Given the description of an element on the screen output the (x, y) to click on. 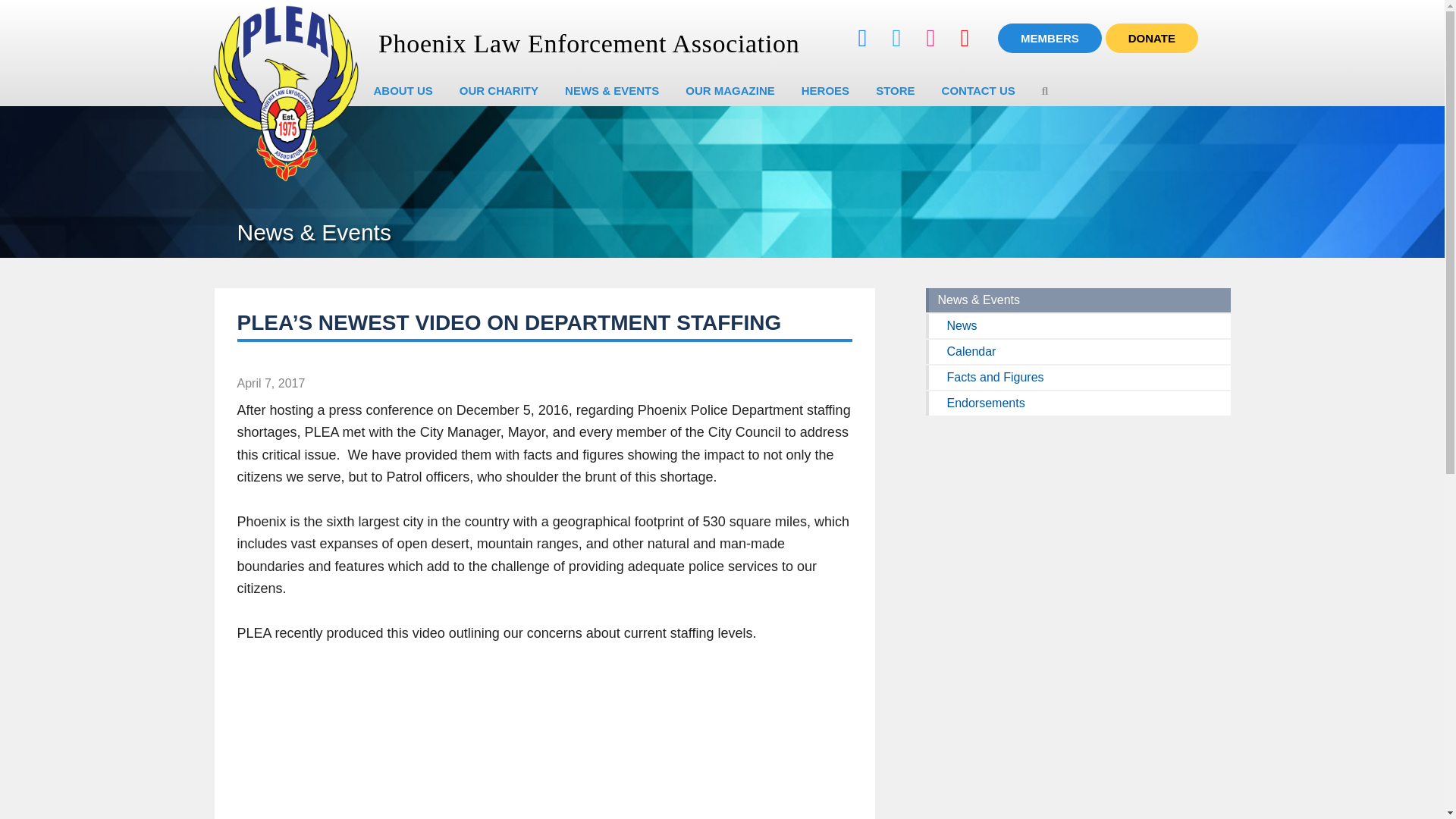
PLEA Staffing PSA 1 (425, 743)
OUR MAGAZINE (730, 90)
MEMBERS (1049, 37)
DONATE (1151, 37)
OUR CHARITY (499, 90)
STORE (895, 90)
HEROES (825, 90)
CONTACT US (978, 90)
ABOUT US (403, 90)
